Given the description of an element on the screen output the (x, y) to click on. 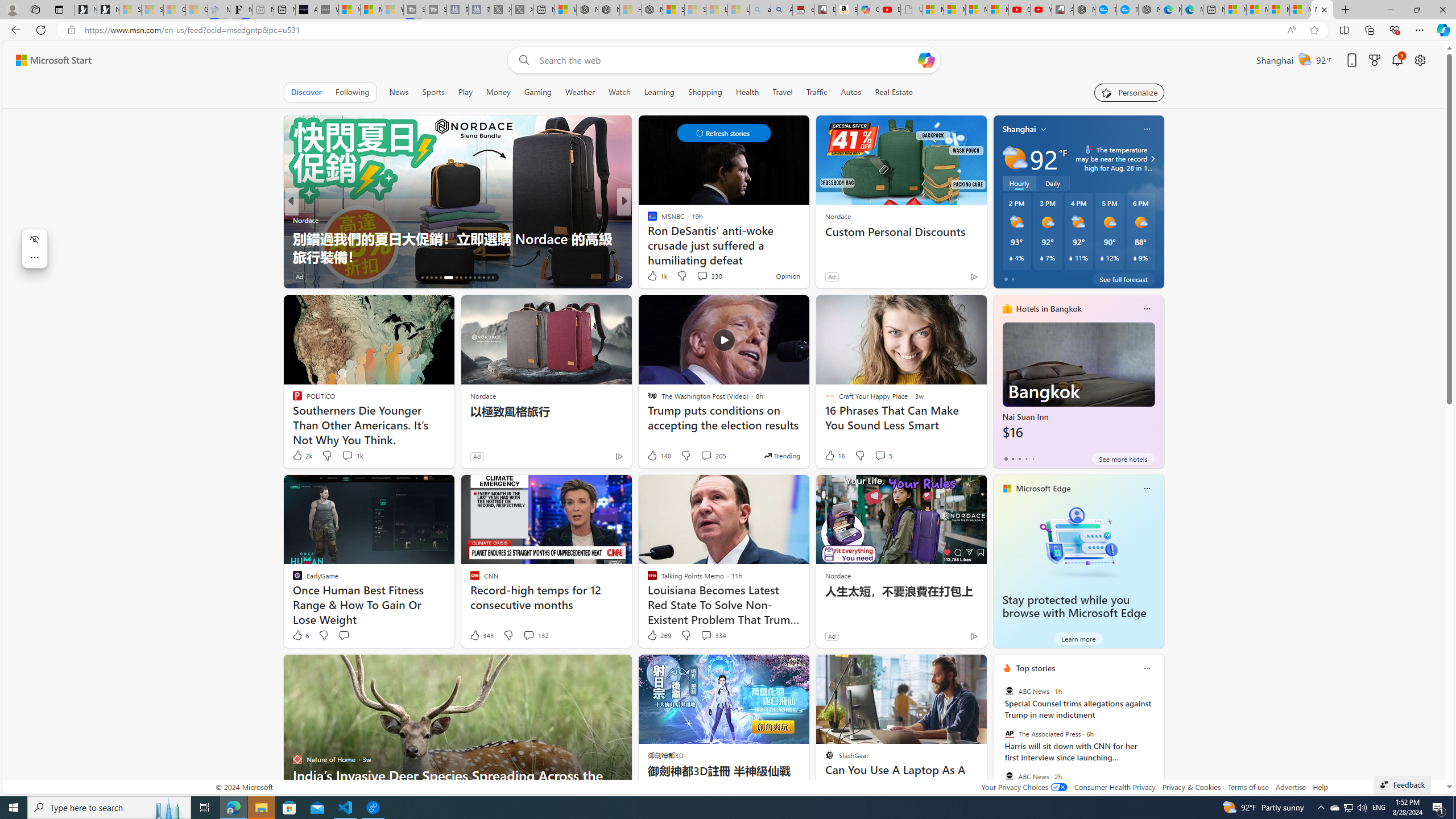
Planning to Organize (647, 219)
8 Like (651, 276)
View comments 132 Comment (535, 634)
Nordace - My Account (1083, 9)
Stay protected while you browse with Microsoft Edge (1077, 541)
AutomationID: tab-20 (440, 277)
